Given the description of an element on the screen output the (x, y) to click on. 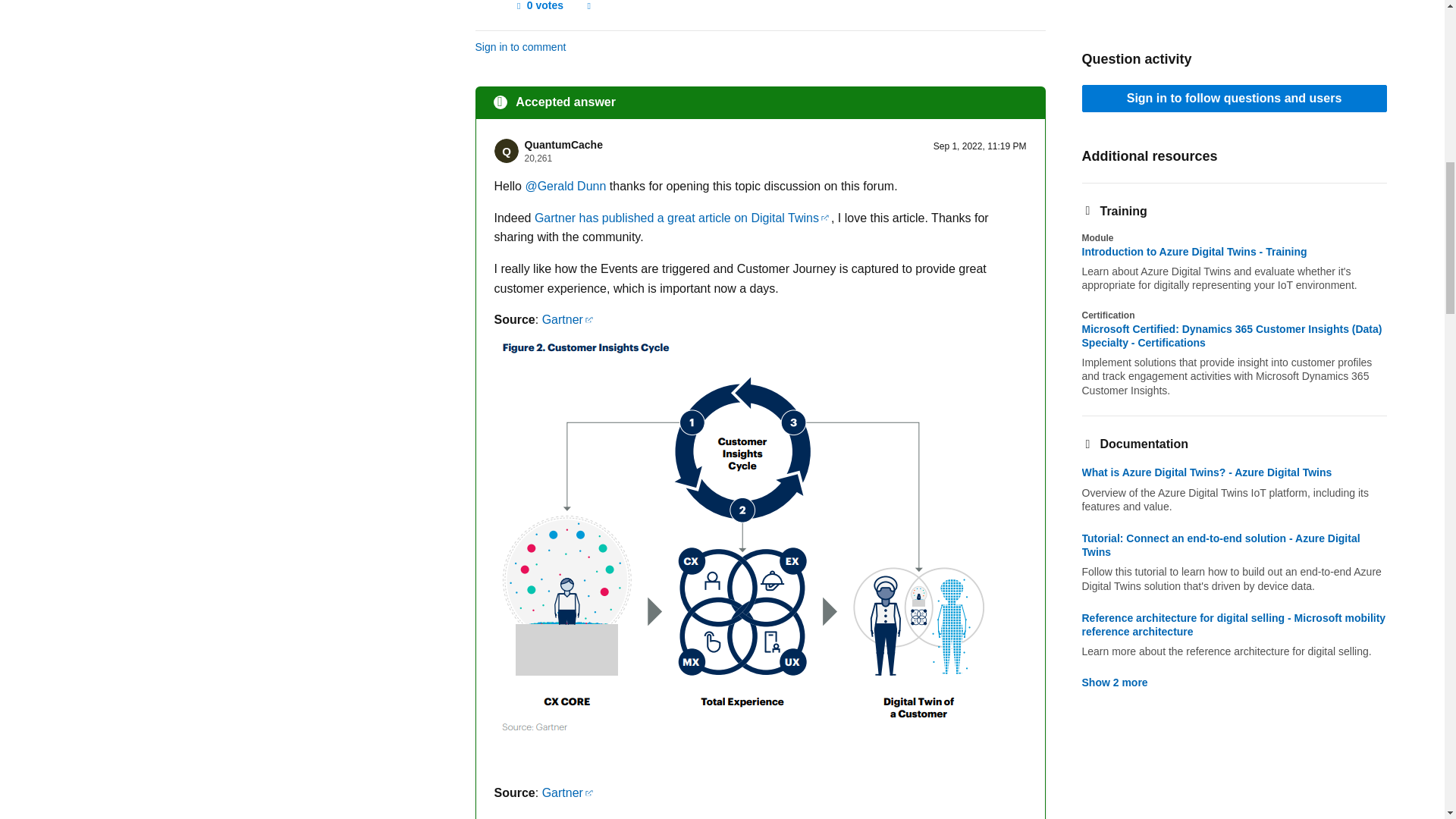
Report a concern (588, 9)
This comment is helpful (538, 9)
Reputation points (538, 158)
